Given the description of an element on the screen output the (x, y) to click on. 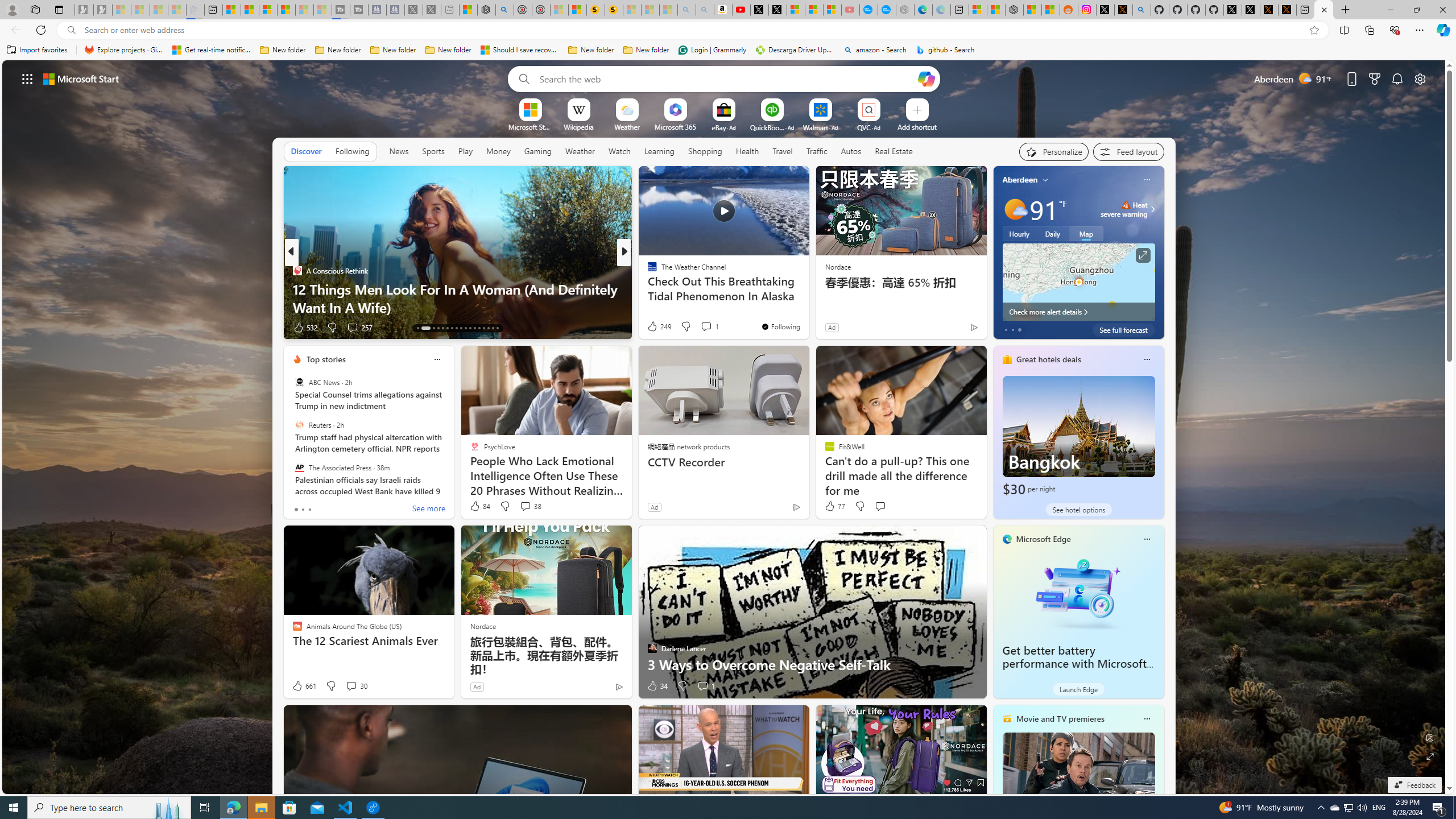
To get missing image descriptions, open the context menu. (529, 109)
Sports (432, 151)
Health (746, 151)
30 Like (652, 327)
Wikipedia (578, 126)
View comments 5 Comment (702, 327)
Shopping (705, 151)
View comments 366 Comment (709, 327)
Microsoft rewards (1374, 78)
